Given the description of an element on the screen output the (x, y) to click on. 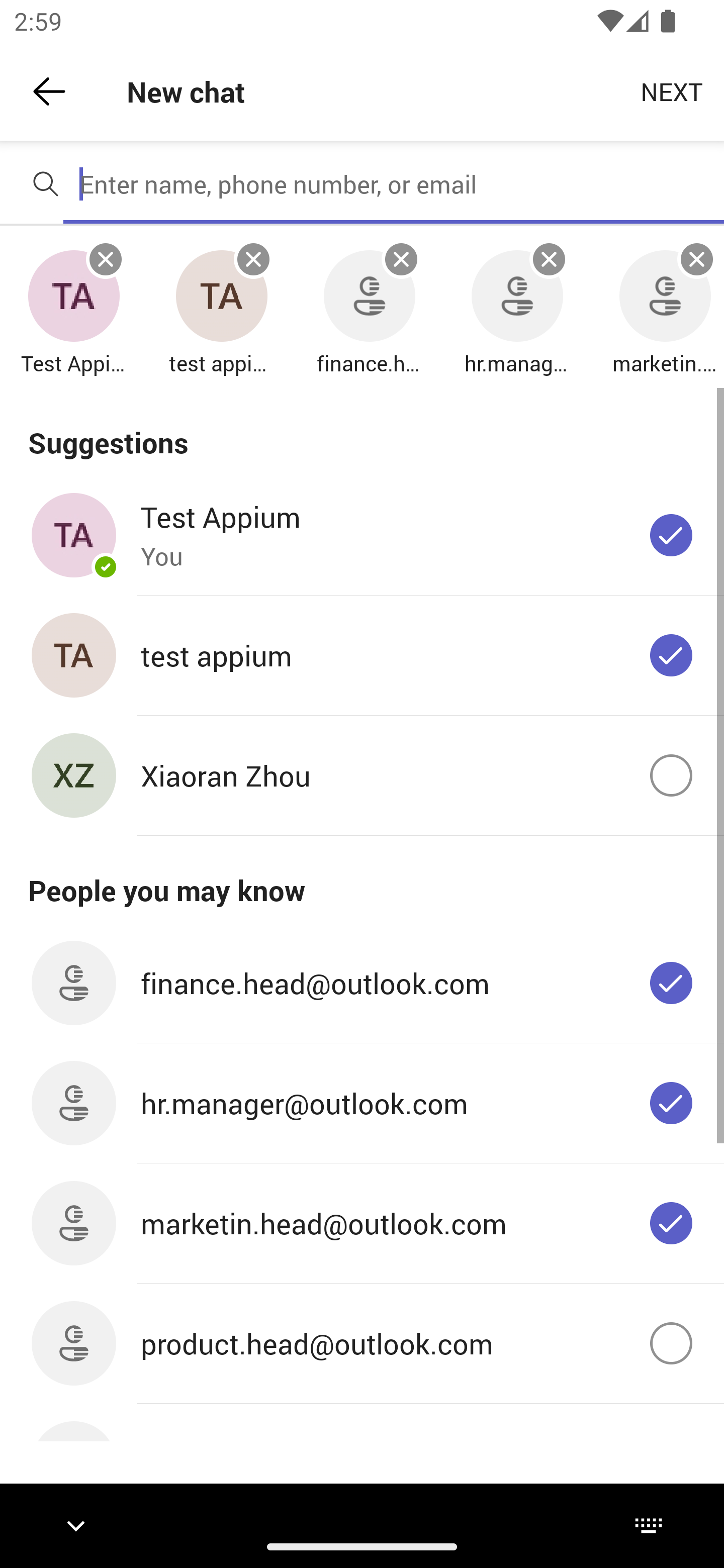
Back (49, 91)
NEXT (671, 90)
Enter name, phone number, or email (393, 184)
Remove (105, 259)
Remove (252, 259)
Remove (400, 259)
Remove (548, 259)
Remove (696, 259)
Test Appium profile picture (73, 295)
test appium profile picture (221, 295)
finance.head@outlook.com profile picture (369, 295)
hr.manager@outlook.com profile picture (517, 295)
marketin.head@outlook.com profile picture (664, 295)
Suggestions section header Suggestions (362, 431)
